Given the description of an element on the screen output the (x, y) to click on. 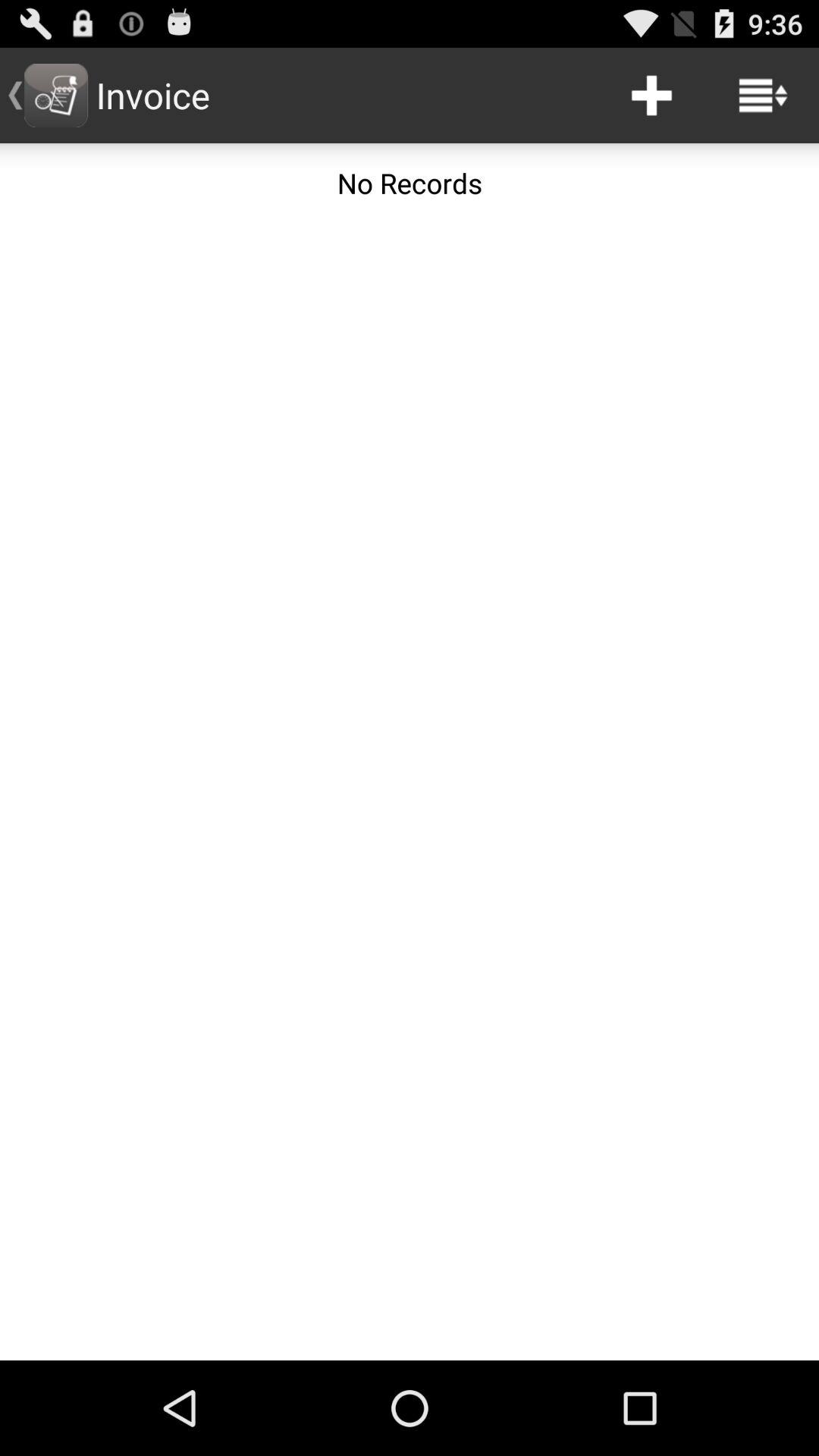
turn on the app above no records app (651, 95)
